Given the description of an element on the screen output the (x, y) to click on. 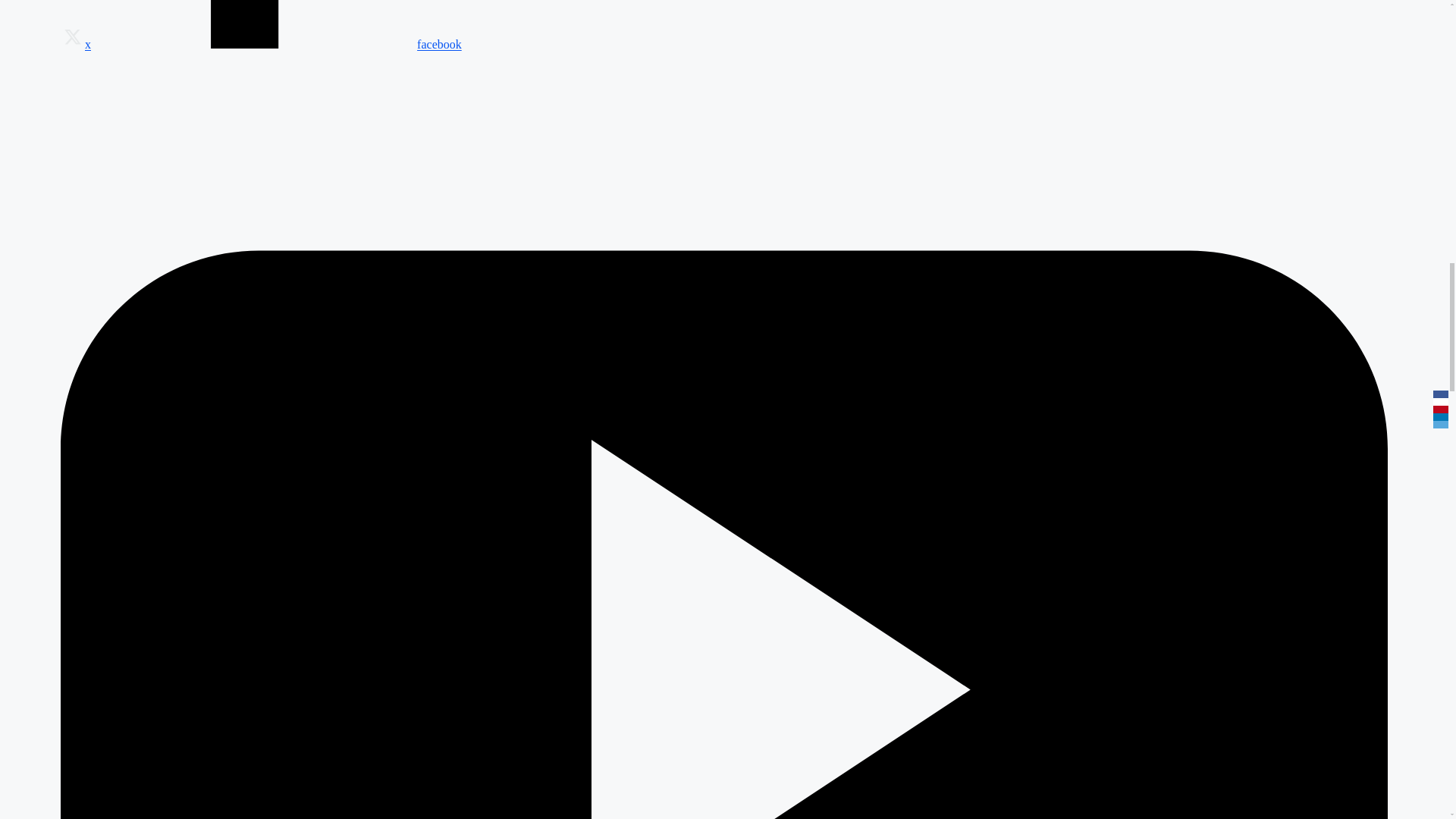
x (75, 43)
facebook (275, 43)
